Given the description of an element on the screen output the (x, y) to click on. 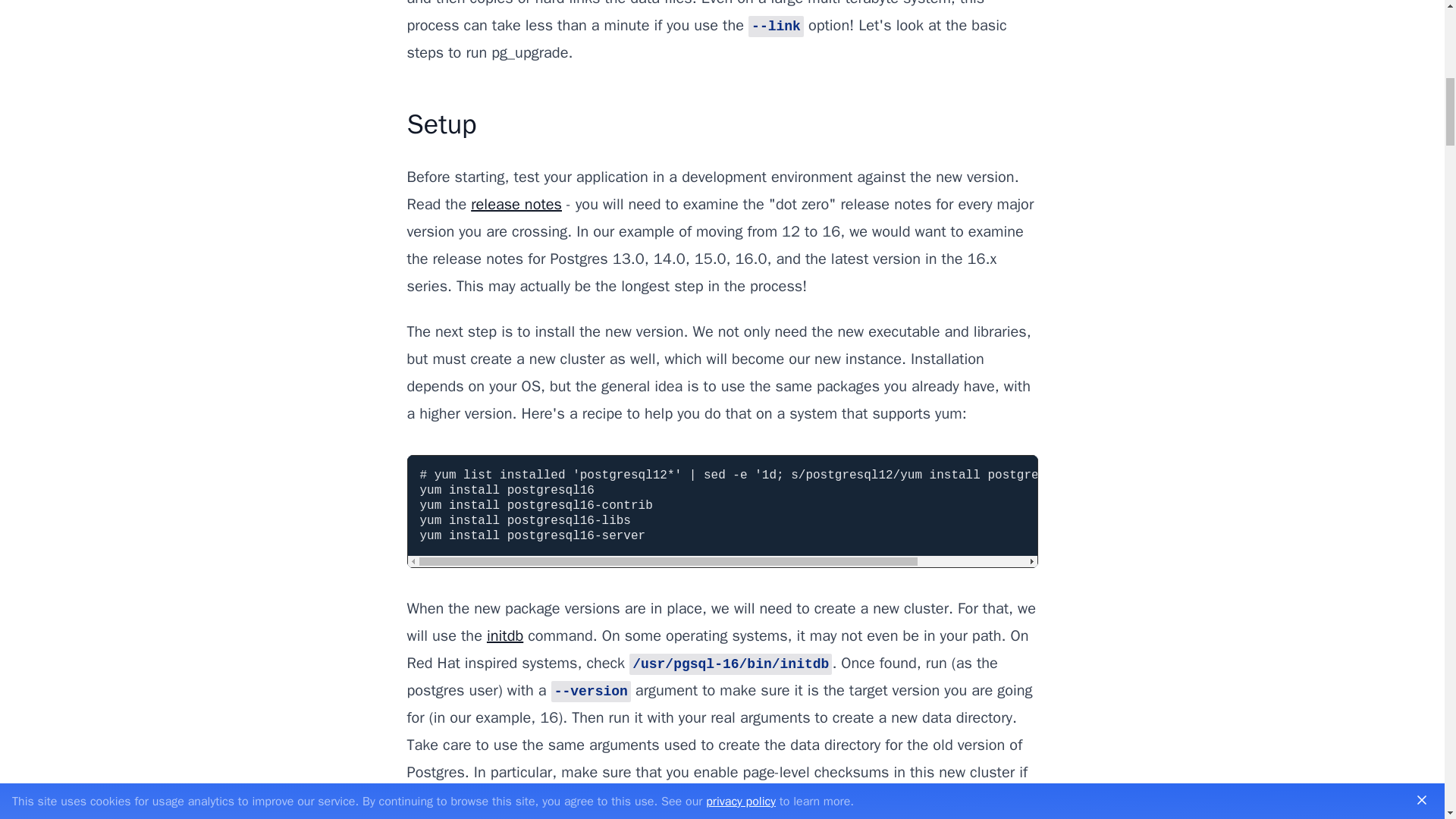
release notes (516, 203)
Setup (441, 124)
initdb (504, 635)
